Given the description of an element on the screen output the (x, y) to click on. 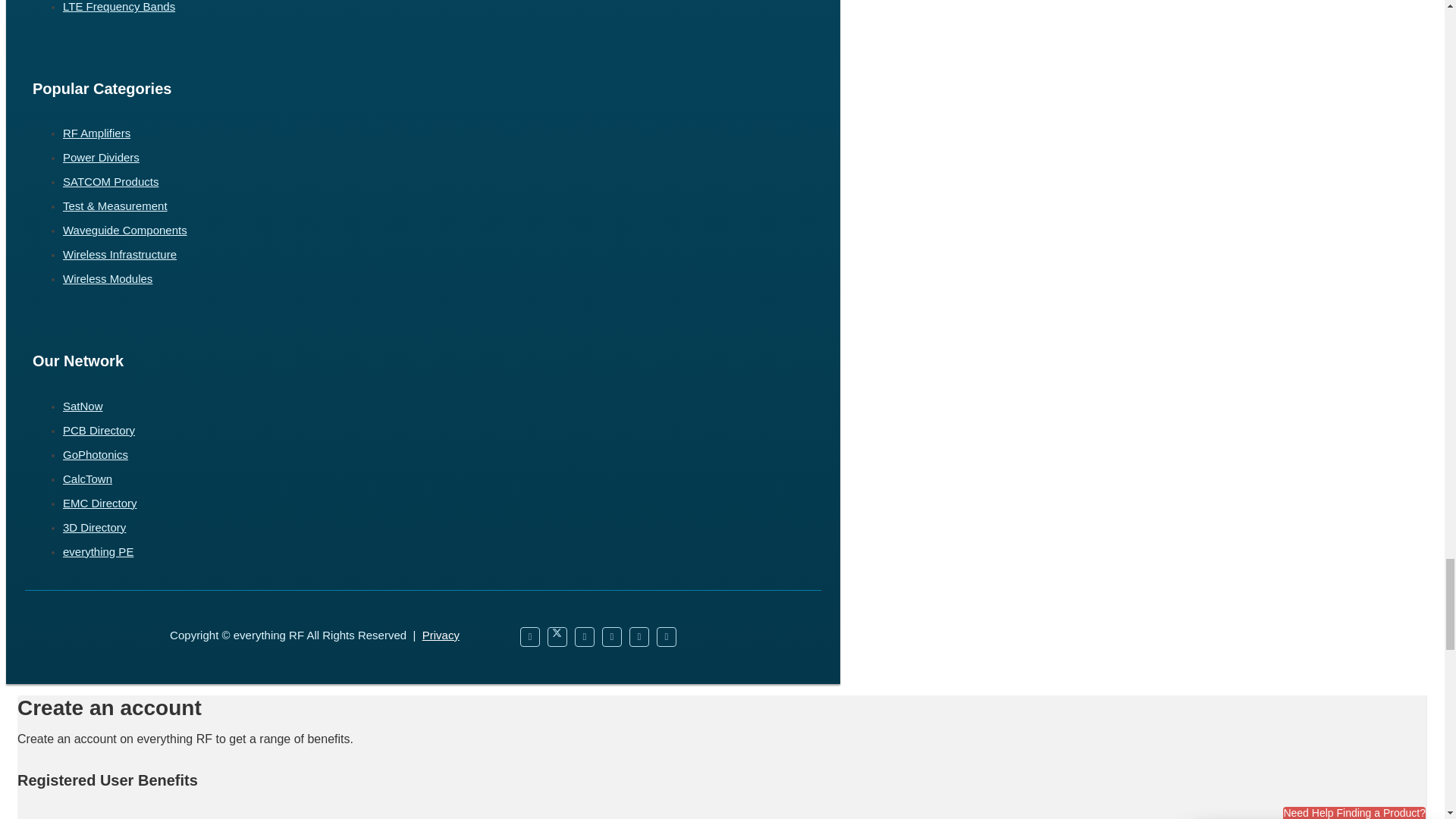
Products and News RSS xml feed (666, 637)
News RSS xml feed (611, 637)
Products RSS xml feed (638, 637)
